Given the description of an element on the screen output the (x, y) to click on. 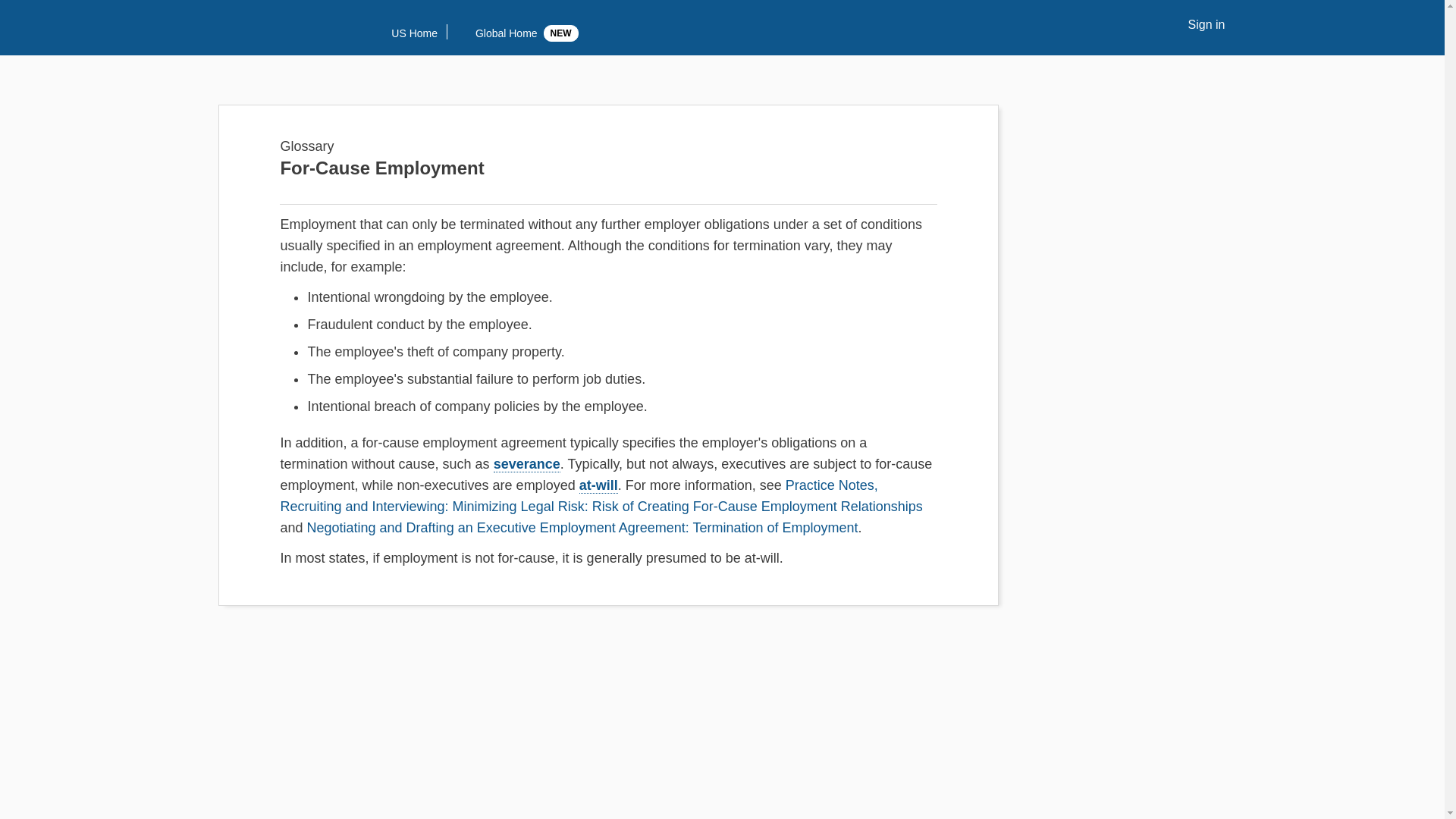
severance (526, 464)
at-will (598, 485)
US Home (404, 33)
Sign in (1205, 25)
Global Home (494, 33)
